Given the description of an element on the screen output the (x, y) to click on. 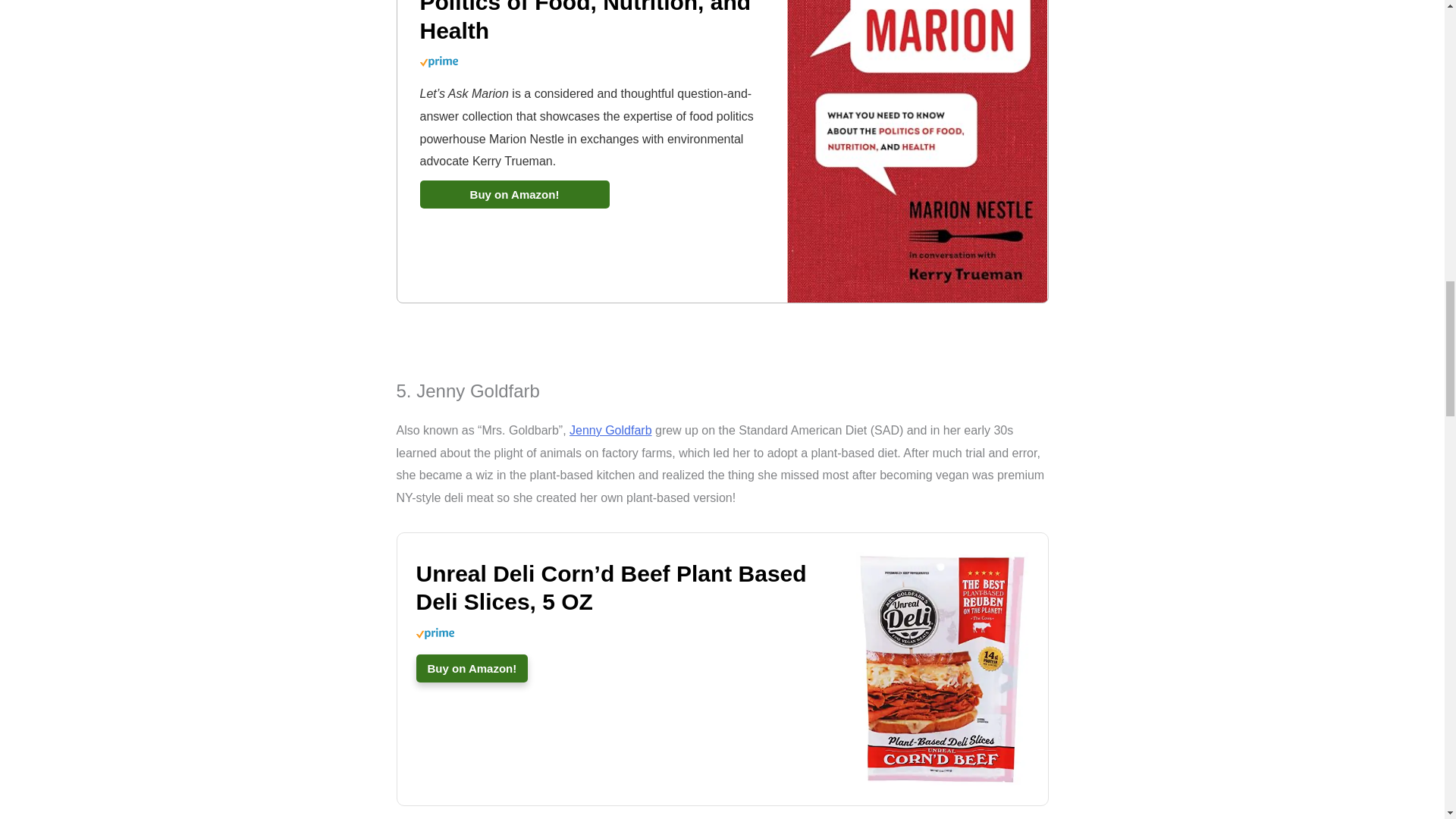
Buy on Amazon! (515, 194)
Jenny Goldfarb (610, 430)
